Given the description of an element on the screen output the (x, y) to click on. 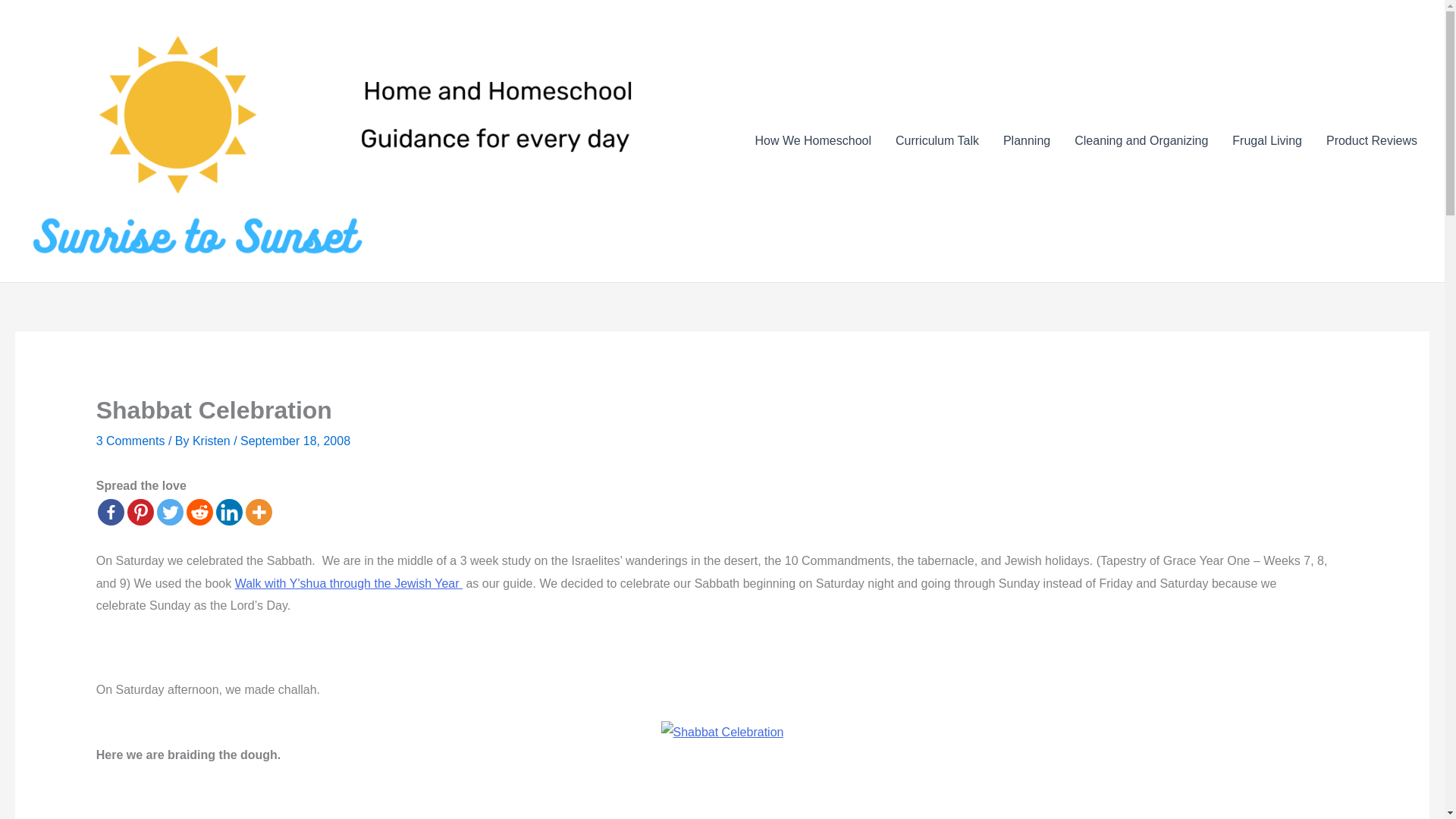
Twitter (170, 511)
Product Reviews (1371, 140)
Pinterest (141, 511)
Frugal Living (1267, 140)
Cleaning and Organizing (1141, 140)
Linkedin (229, 511)
How We Homeschool (812, 140)
Curriculum Talk (937, 140)
Kristen (212, 440)
Reddit (199, 511)
